Given the description of an element on the screen output the (x, y) to click on. 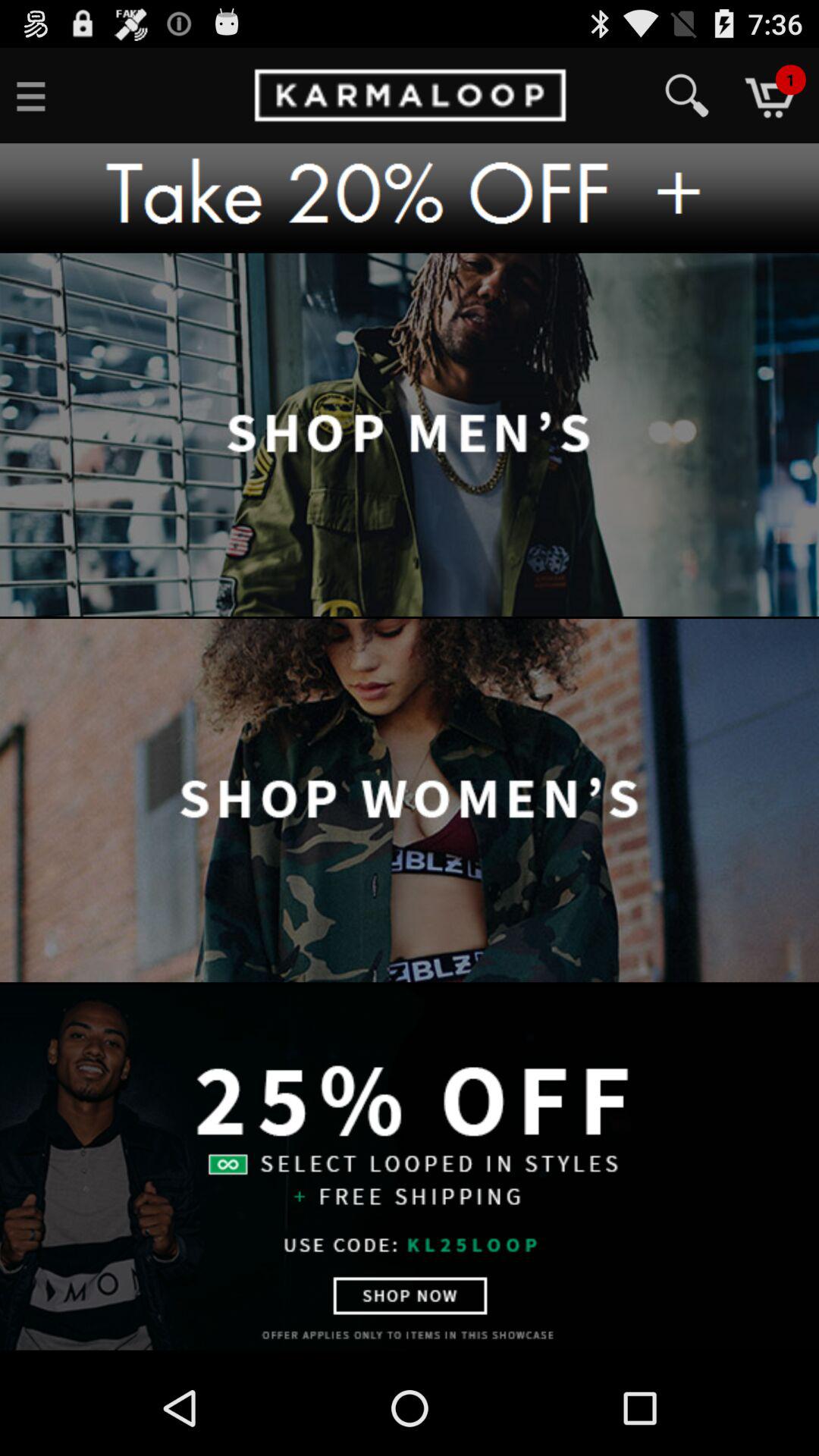
adverstisement button (409, 198)
